Given the description of an element on the screen output the (x, y) to click on. 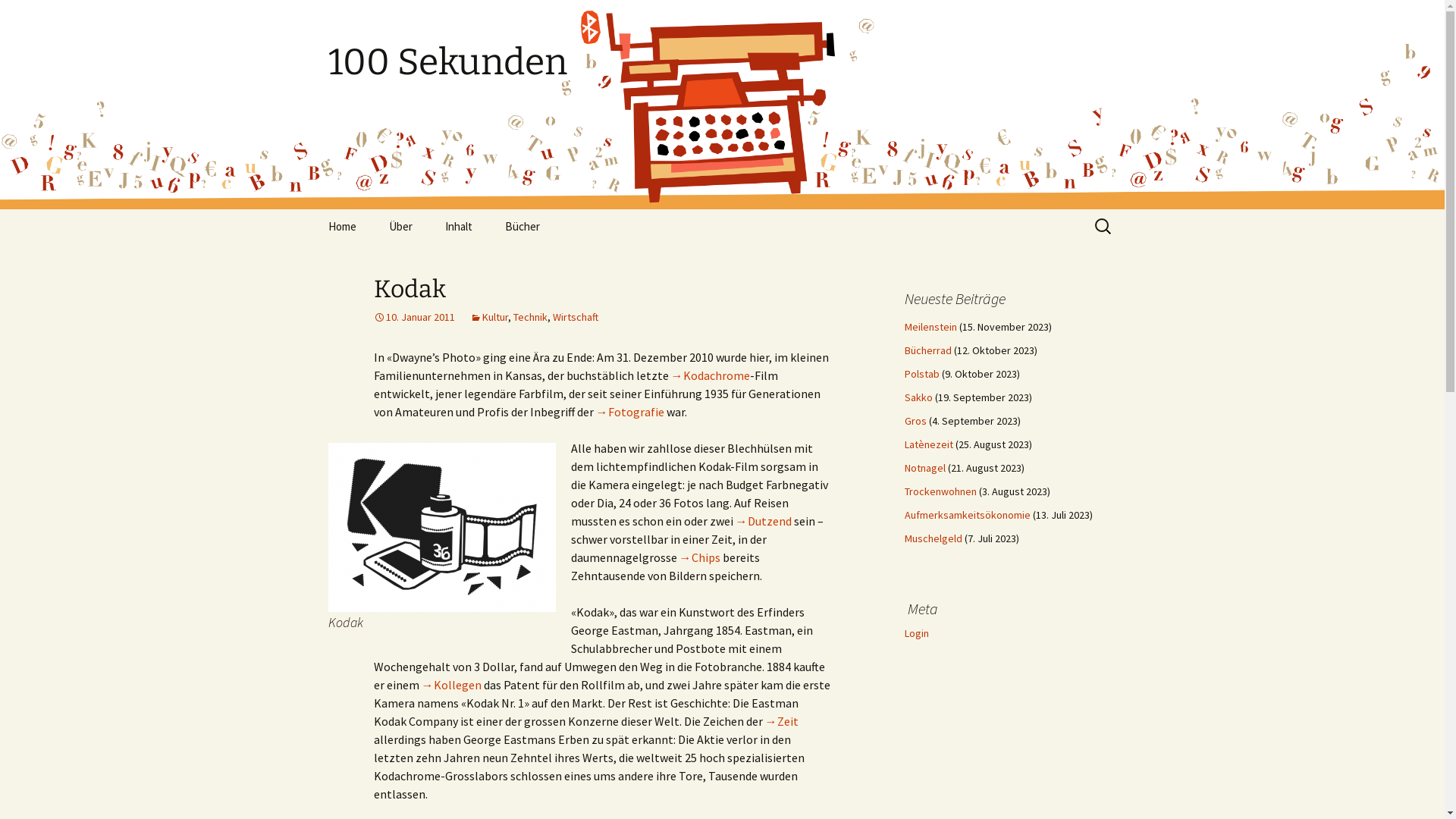
Fotografie Element type: text (630, 411)
Wirtschaft Element type: text (574, 316)
10. Januar 2011 Element type: text (413, 316)
Illustrationen Element type: text (565, 260)
Kultur Element type: text (489, 316)
Login Element type: text (915, 633)
Home Element type: text (341, 226)
100 Sekunden Element type: text (721, 87)
Dutzend Element type: text (763, 520)
Kodachrome Element type: text (709, 374)
Nutzungsbedingungen Element type: text (448, 260)
Polstab Element type: text (920, 373)
Chips Element type: text (699, 556)
Inhalt Element type: text (457, 226)
Technik Element type: text (529, 316)
Sakko Element type: text (917, 397)
Zum Inhalt springen Element type: text (312, 208)
Trockenwohnen Element type: text (939, 491)
Notnagel Element type: text (923, 467)
Meilenstein Element type: text (929, 326)
Zeit Element type: text (780, 720)
Kollegen Element type: text (451, 684)
Gros Element type: text (914, 420)
Suche Element type: text (18, 15)
Muschelgeld Element type: text (932, 538)
